Given the description of an element on the screen output the (x, y) to click on. 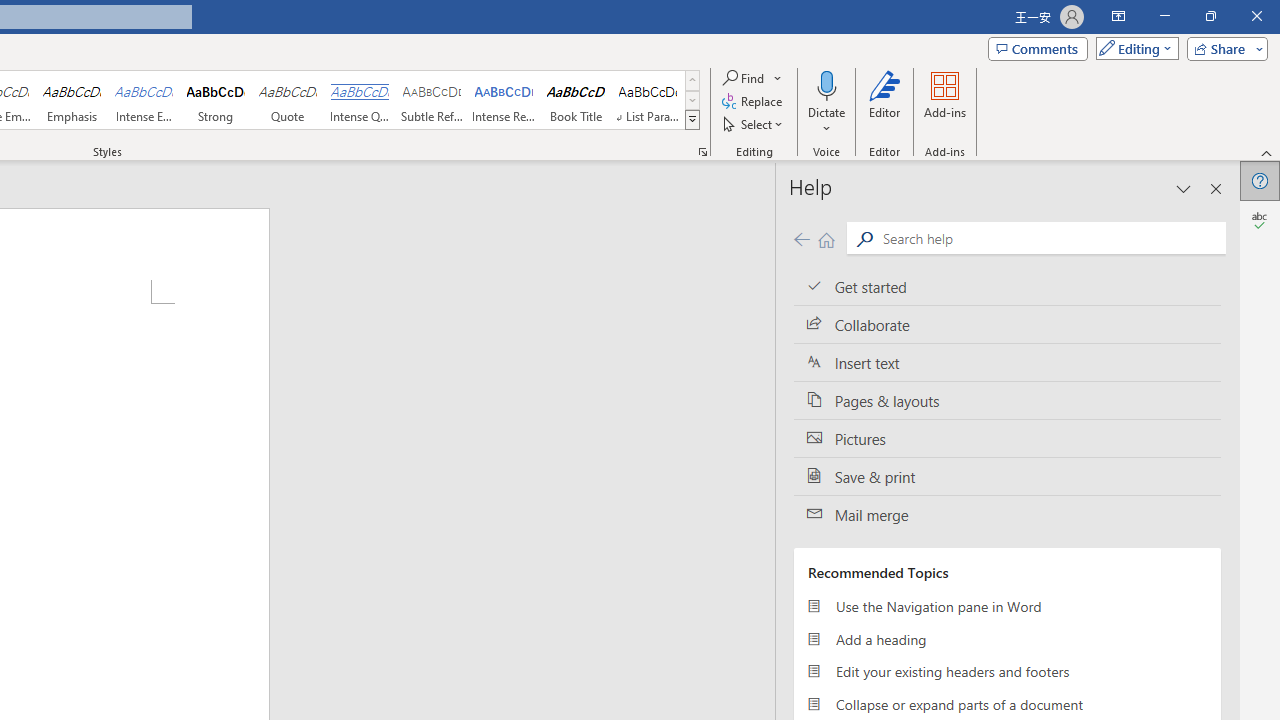
Pictures (1007, 438)
Intense Quote (359, 100)
Save & print (1007, 476)
Insert text (1007, 363)
